Given the description of an element on the screen output the (x, y) to click on. 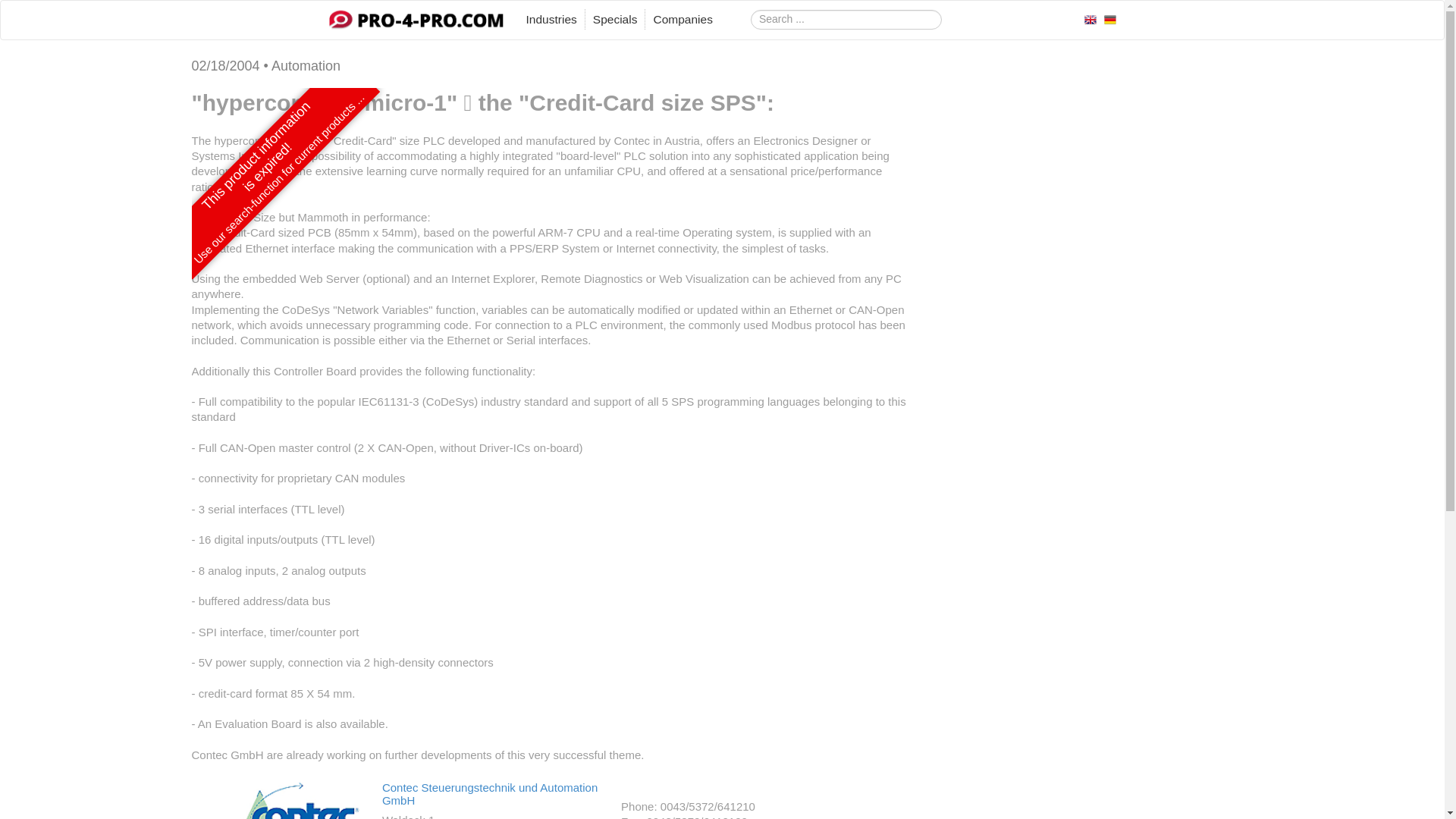
english version (1090, 18)
Companies (682, 19)
Specials (615, 19)
Industries (551, 19)
Contec Steuerungstechnik und Automation GmbH (488, 793)
deutsche version (1109, 18)
